Given the description of an element on the screen output the (x, y) to click on. 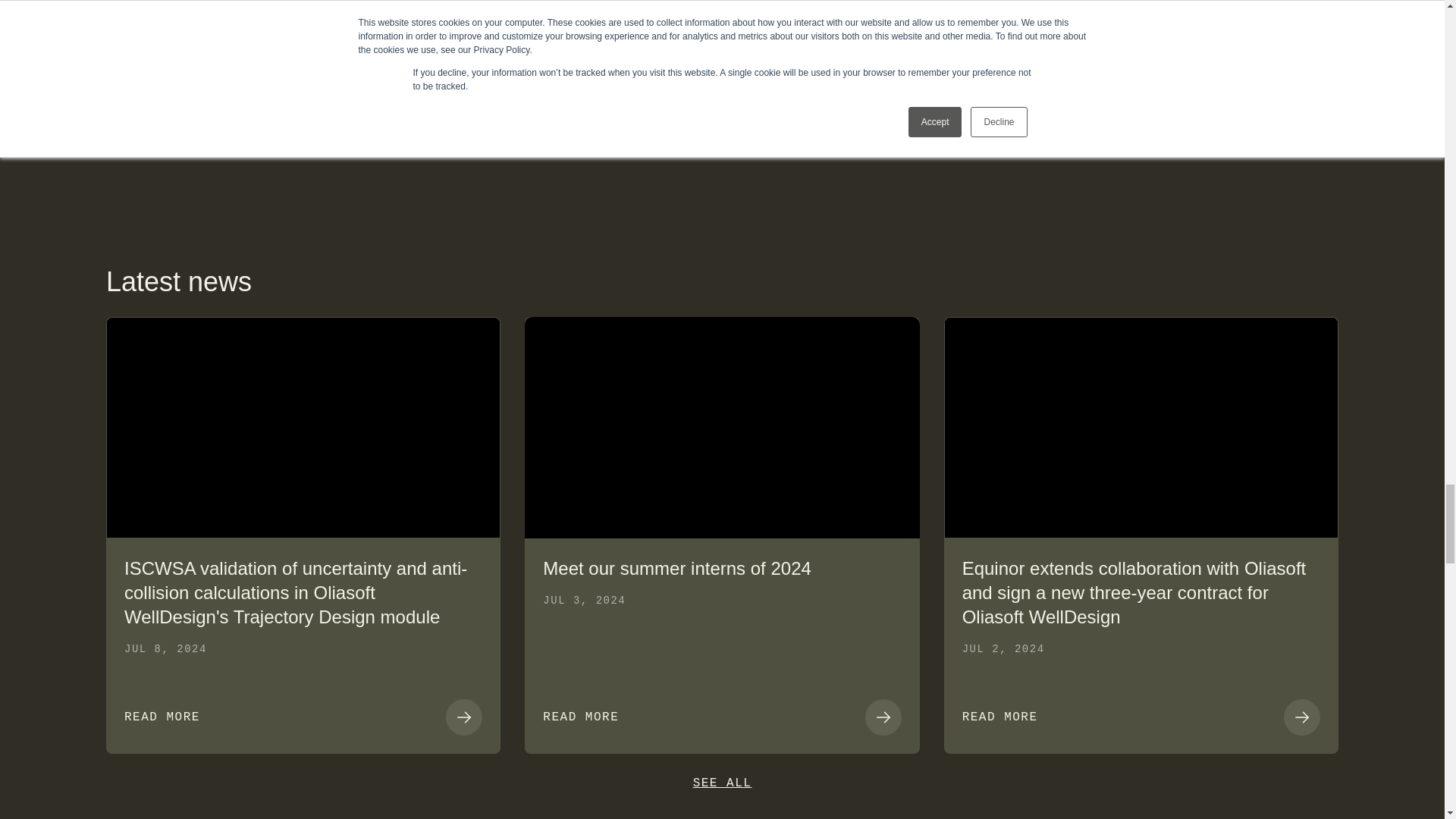
SEE ALL (722, 783)
SIGN UP TO OUR NEWSLETTER (1176, 52)
